Given the description of an element on the screen output the (x, y) to click on. 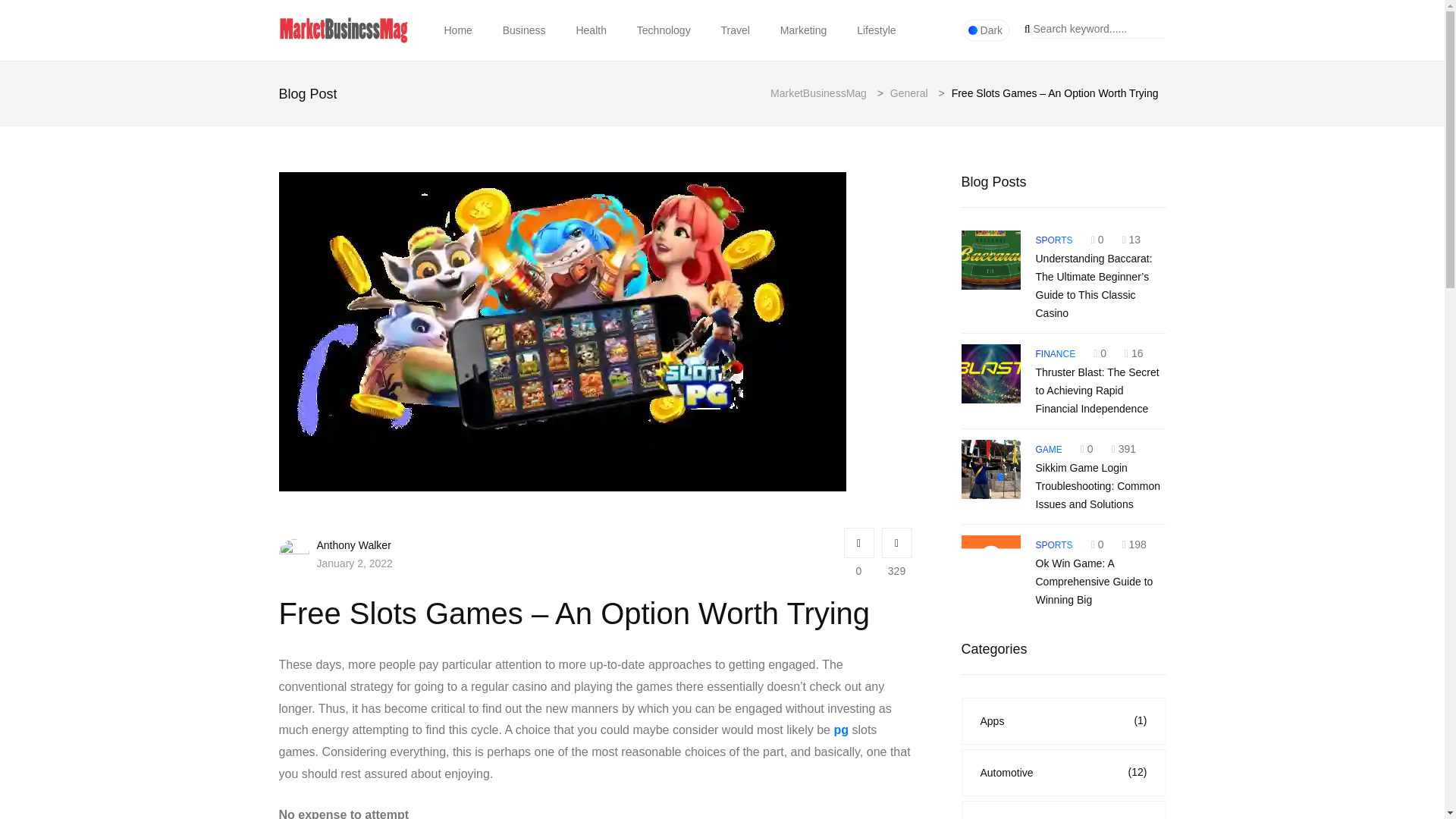
SPORTS (1054, 239)
MarketBusinessMag (820, 93)
Ok Win Game: A Comprehensive Guide to Winning Big (990, 564)
Business (524, 30)
Technology (663, 30)
Home (458, 30)
Travel (734, 30)
